Given the description of an element on the screen output the (x, y) to click on. 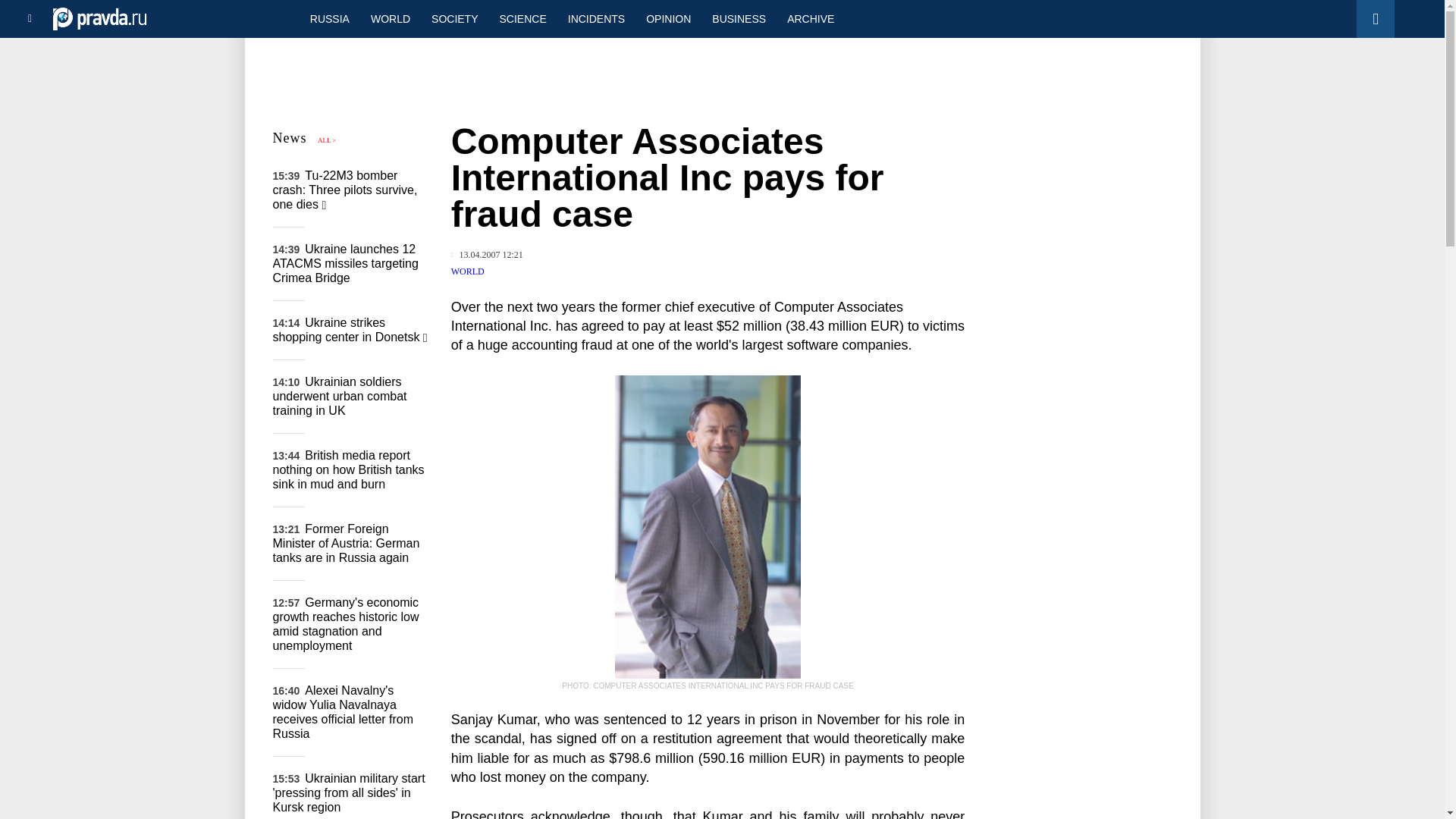
ARCHIVE (810, 18)
Tu-22M3 bomber crash: Three pilots survive, one dies (345, 189)
OPINION (667, 18)
RUSSIA (329, 18)
SCIENCE (523, 18)
News (290, 137)
BUSINESS (738, 18)
Published (486, 255)
